Given the description of an element on the screen output the (x, y) to click on. 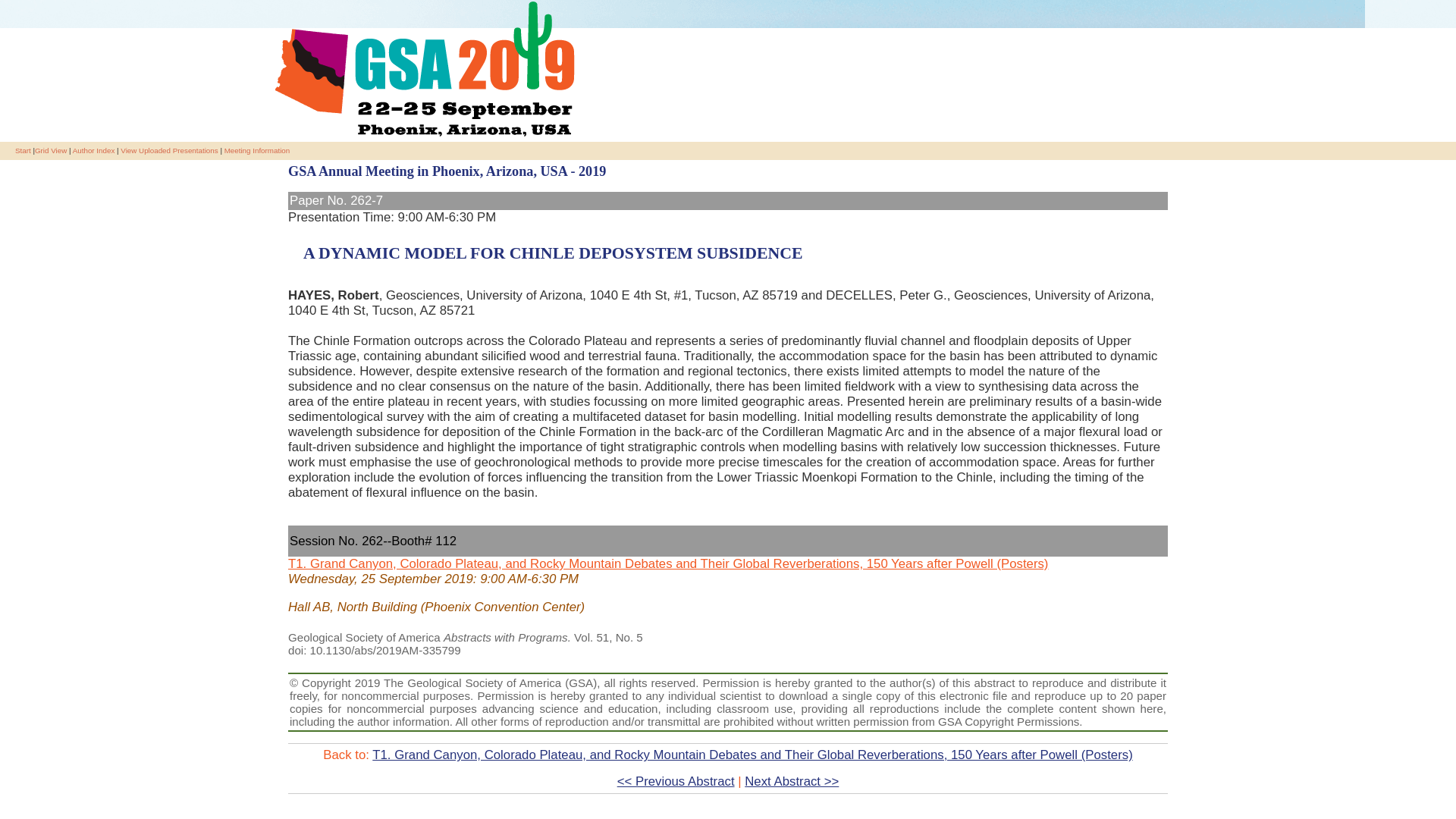
Author Index (93, 150)
Grid View (50, 150)
View Uploaded Presentations (168, 150)
Start (22, 150)
Meeting Information (256, 150)
